Given the description of an element on the screen output the (x, y) to click on. 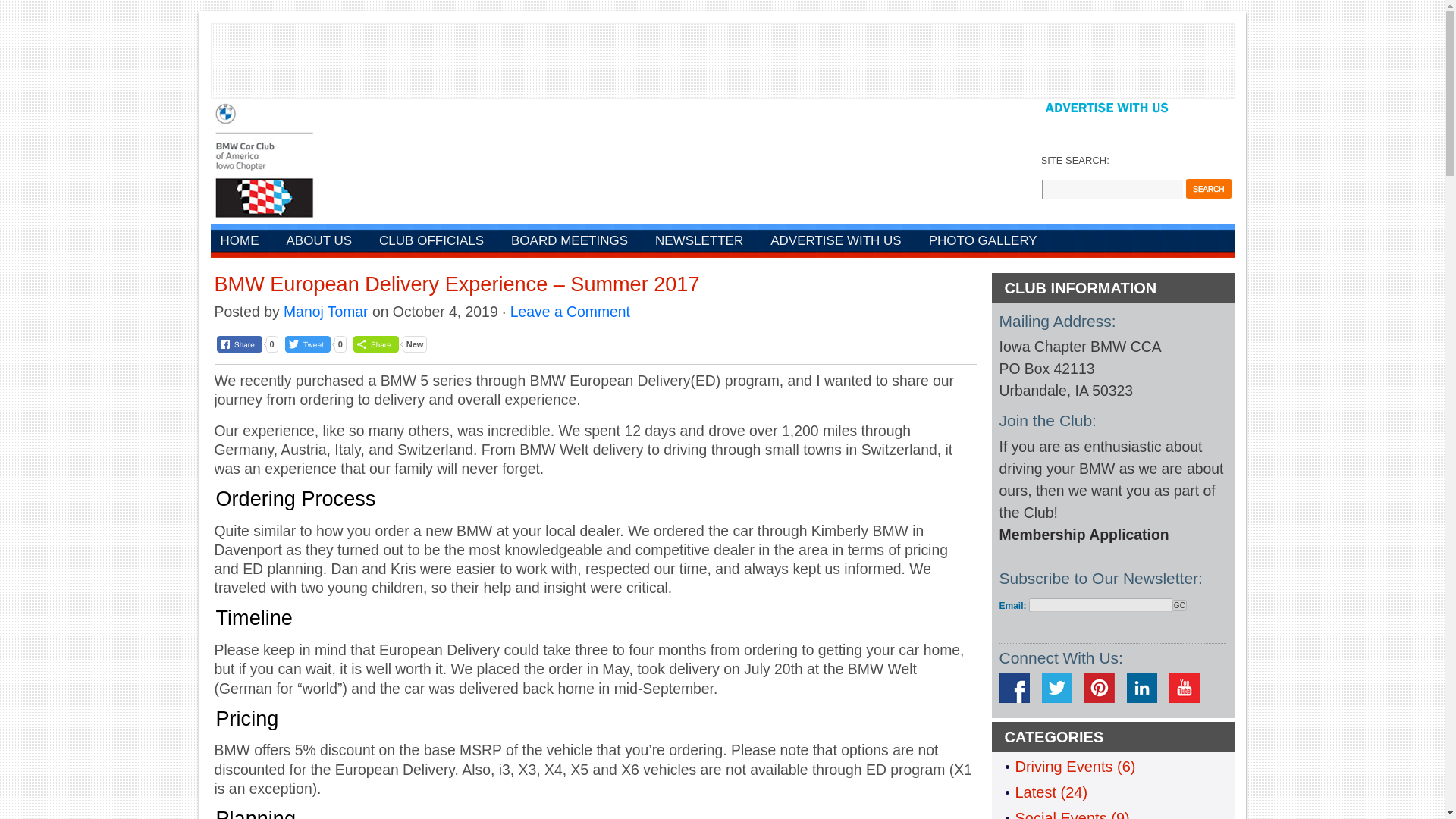
Manoj Tomar (325, 311)
PHOTO GALLERY (982, 242)
CLUB OFFICIALS (431, 242)
Latest (1034, 791)
Social Events (1060, 814)
NEWSLETTER (698, 242)
ADVERTISE WITH US (835, 242)
ABOUT US (318, 242)
BOARD MEETINGS (568, 242)
Driving Events (1063, 766)
submit (1207, 188)
GO (1180, 604)
HOME (240, 242)
Posts by Manoj Tomar (325, 311)
Membership Application (1083, 534)
